Given the description of an element on the screen output the (x, y) to click on. 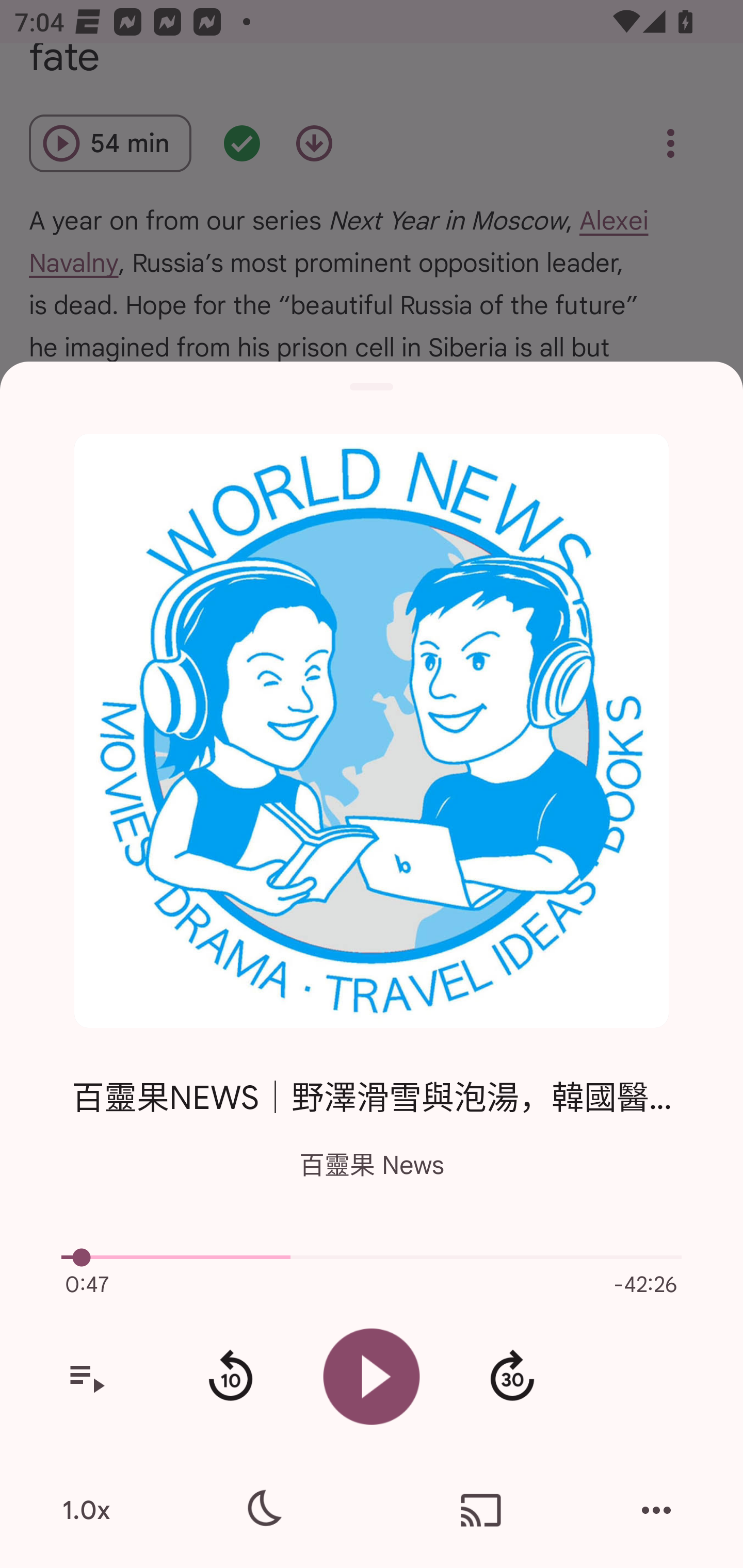
Open the show page for 百靈果 News (371, 731)
181.0 Current episode playback (371, 1257)
Play (371, 1376)
View your queue (86, 1376)
Rewind 10 seconds (230, 1376)
Fast forward 30 second (511, 1376)
1.0x Playback speed is 1.0. (86, 1510)
Sleep timer settings (261, 1510)
Cast. Disconnected (480, 1510)
More actions (655, 1510)
